Given the description of an element on the screen output the (x, y) to click on. 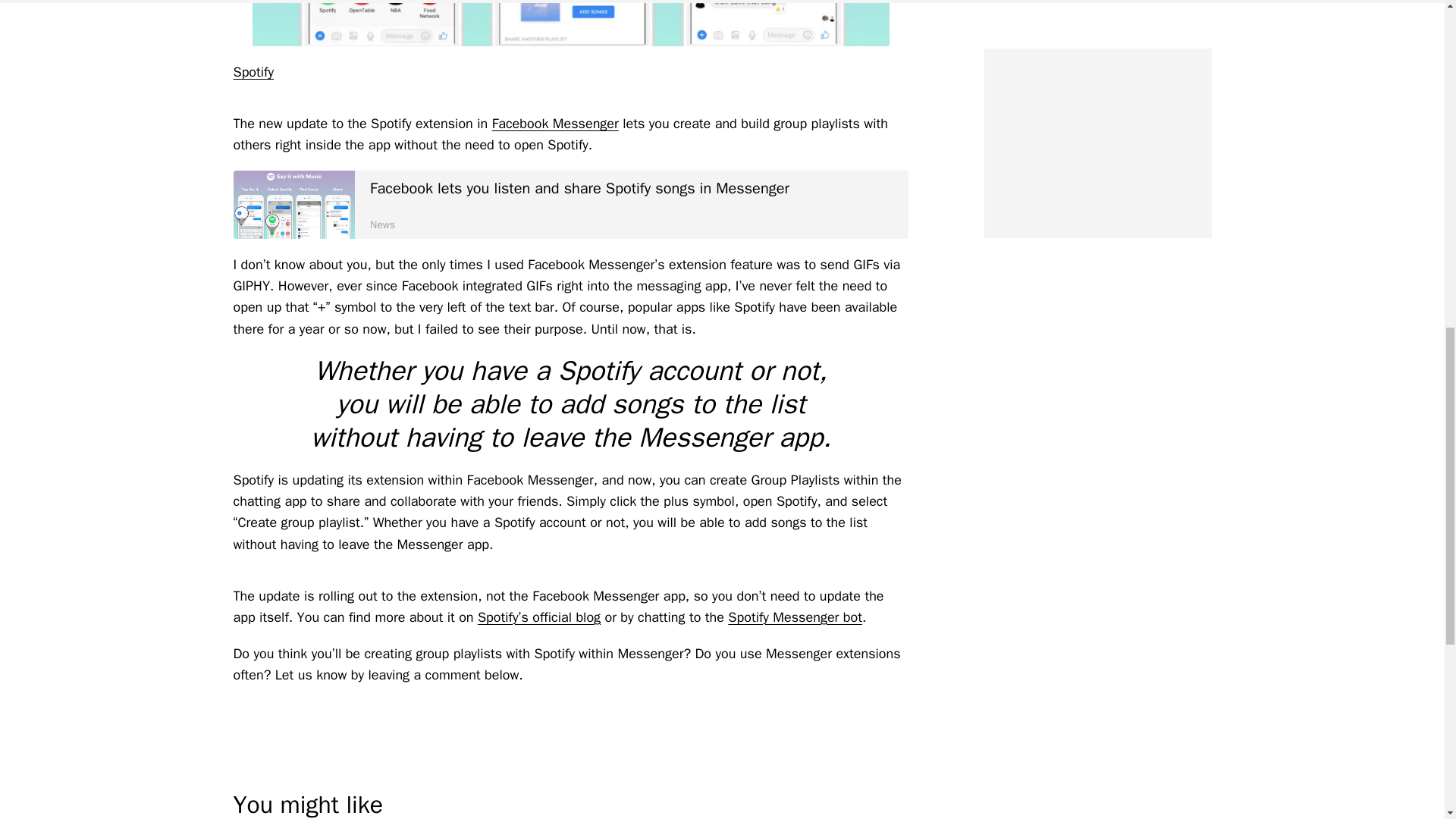
Facebook Messenger (555, 123)
Spotify (253, 71)
Messenger Spotify (293, 204)
Screen Shot 2017-06-21 at 14.05.45 (569, 22)
Spotify Messenger bot (794, 617)
